Given the description of an element on the screen output the (x, y) to click on. 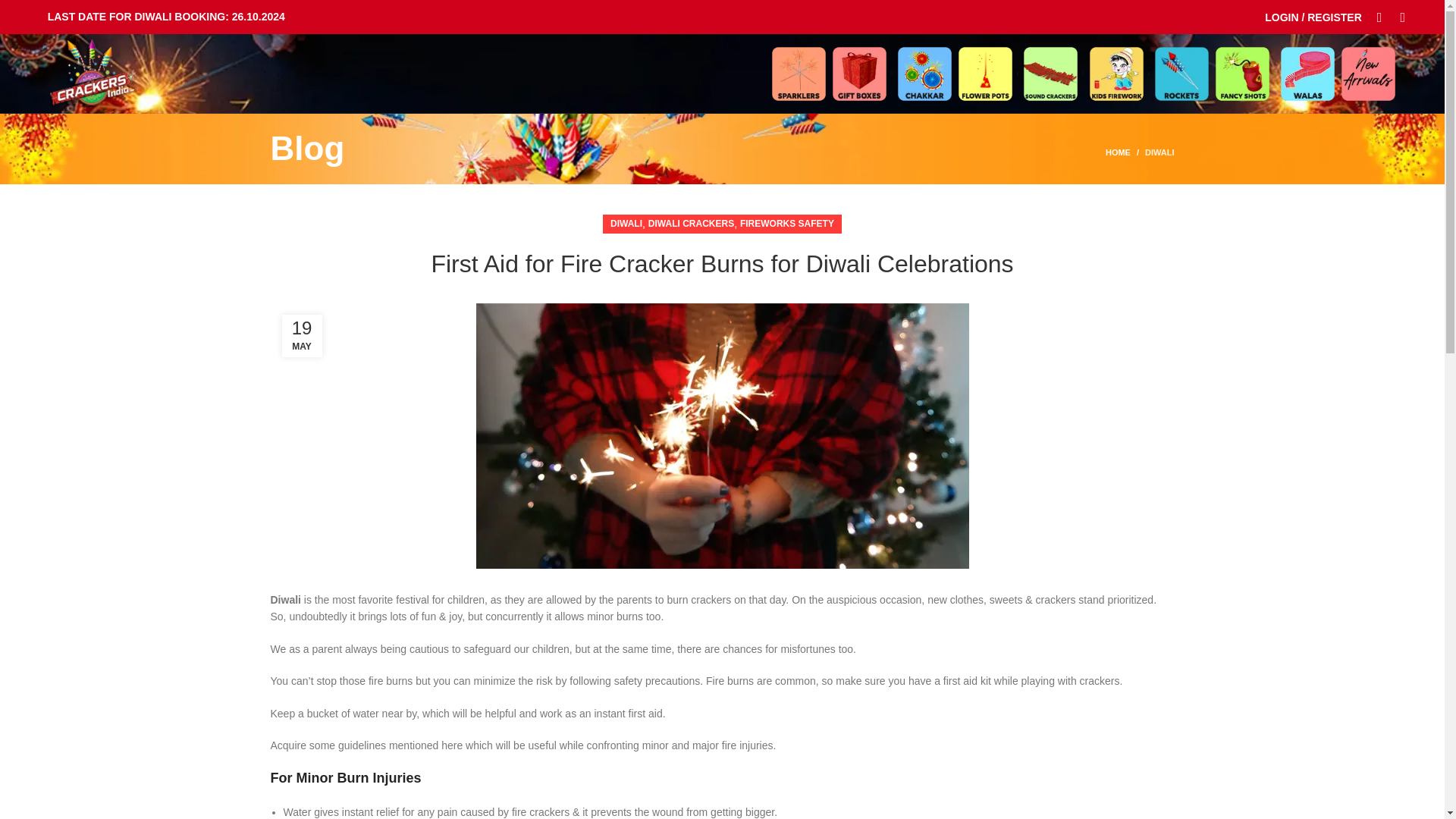
DIWALI CRACKERS (690, 223)
FIREWORKS SAFETY (786, 223)
HOME (1124, 152)
DIWALI (626, 223)
My account (1313, 16)
DIWALI (1159, 152)
